Given the description of an element on the screen output the (x, y) to click on. 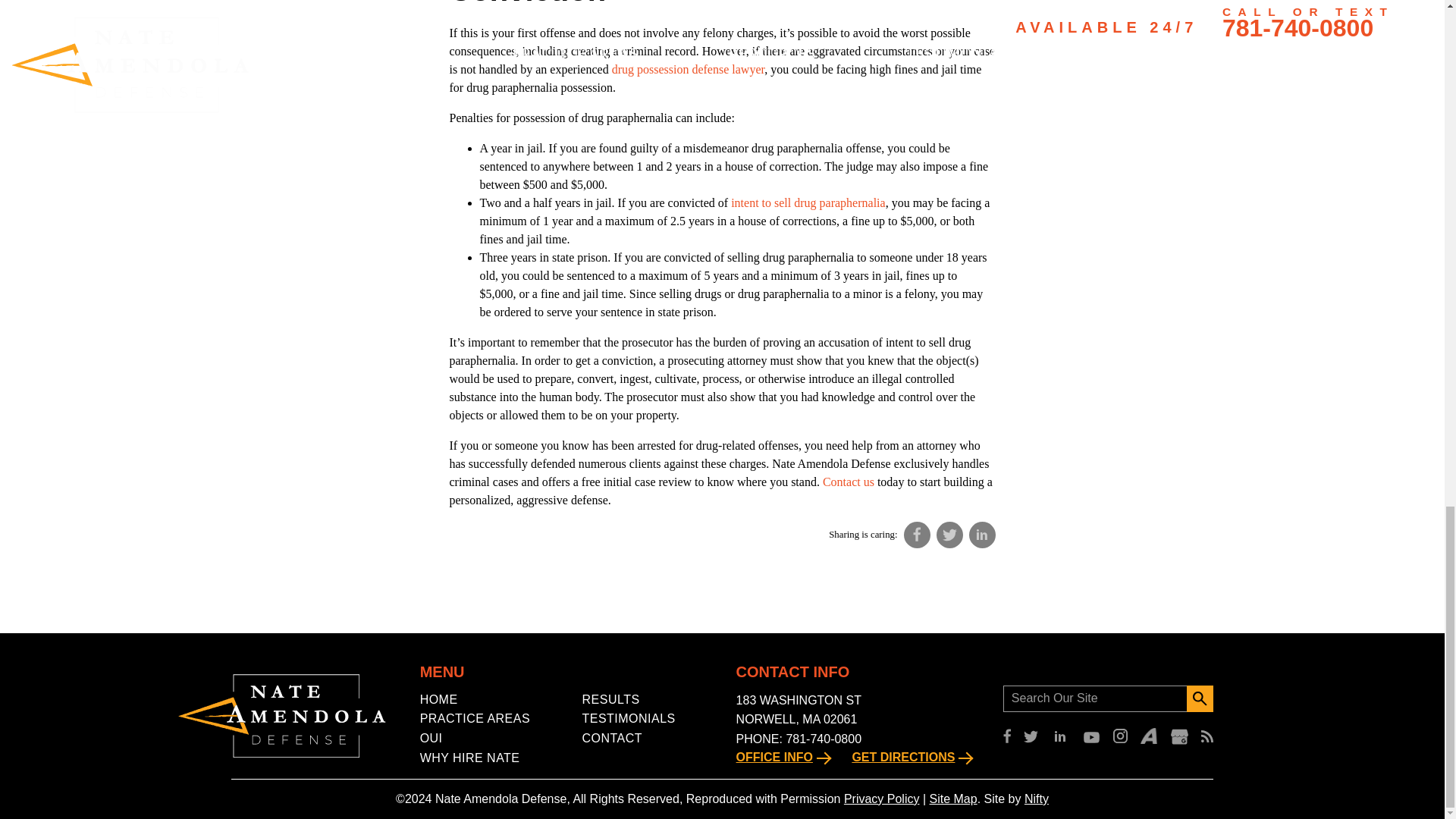
Share on Facebook (917, 534)
Share on Twitter (949, 534)
Search for: (1094, 698)
Share on LinkedIn (982, 534)
